Given the description of an element on the screen output the (x, y) to click on. 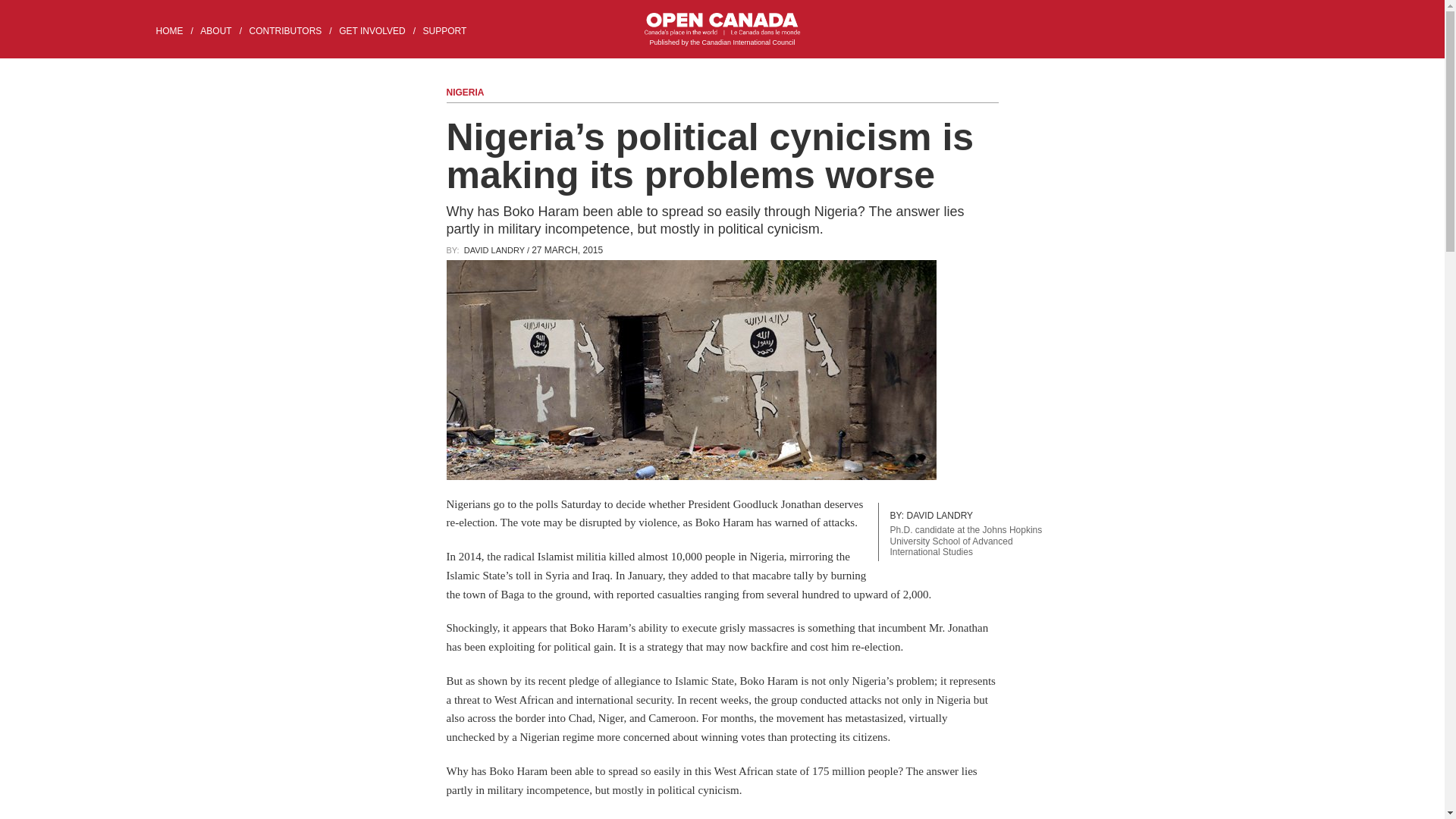
DAVID LANDRY (494, 249)
CONTRIBUTORS (292, 30)
ABOUT (223, 30)
HOME (175, 30)
SUPPORT (451, 30)
GET INVOLVED (379, 30)
NIGERIA (464, 91)
Published by the Canadian International Council (722, 30)
